Given the description of an element on the screen output the (x, y) to click on. 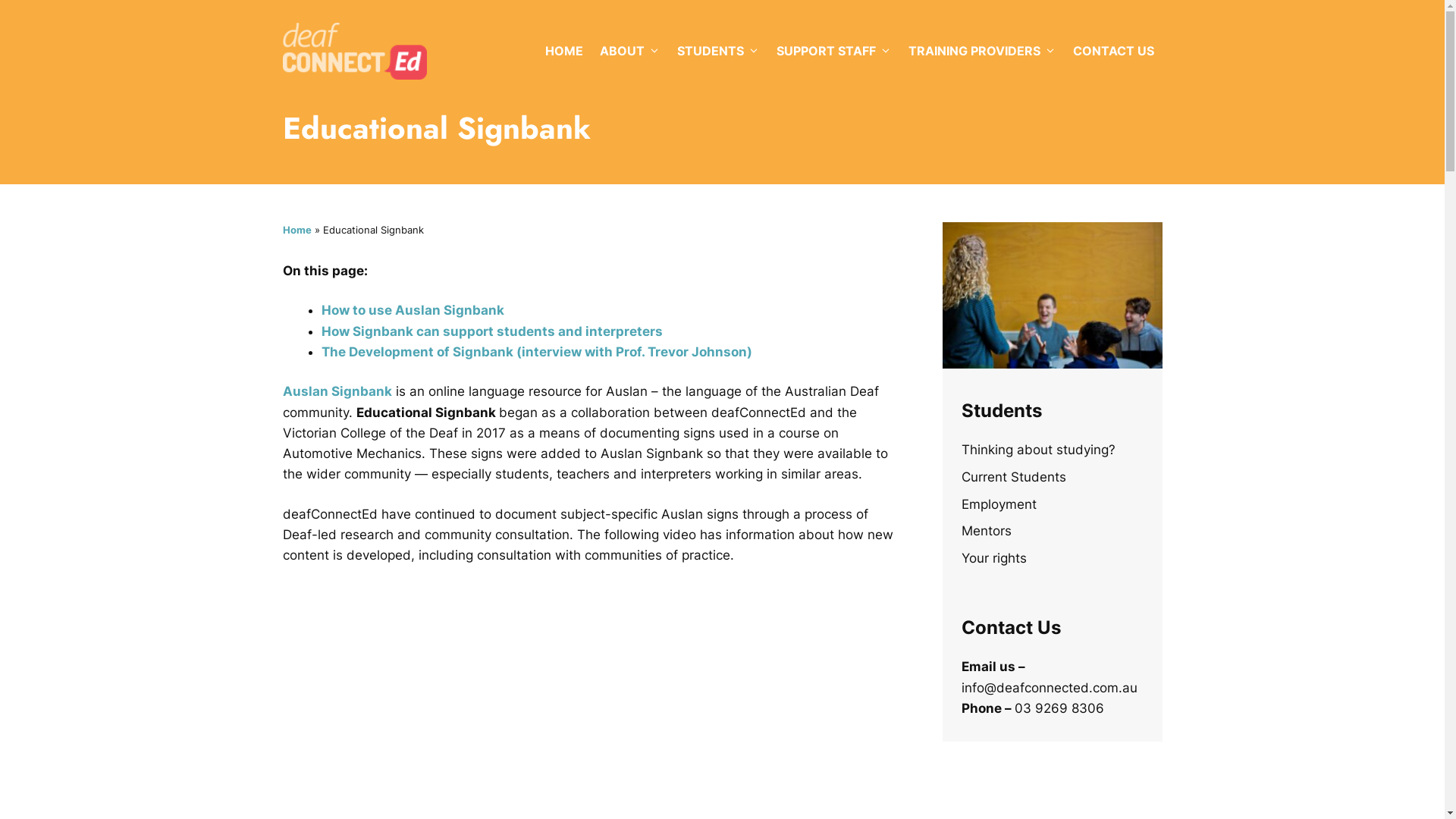
info@deafconnected.com.au Element type: text (1049, 687)
Current Students Element type: text (1013, 476)
Auslan Signbank Element type: text (336, 390)
STUDENTS Element type: text (718, 50)
ABOUT Element type: text (629, 50)
CONTACT US Element type: text (1113, 50)
TRAINING PROVIDERS Element type: text (981, 50)
SUPPORT STAFF Element type: text (833, 50)
Thinking about studying? Element type: text (1038, 449)
Your rights Element type: text (993, 557)
How to use Auslan Signbank Element type: text (412, 309)
Mentors Element type: text (986, 530)
Home Element type: text (296, 229)
Employment Element type: text (998, 503)
03 9269 8306 Element type: text (1059, 707)
How Signbank can support students and interpreters  Element type: text (493, 330)
HOME Element type: text (563, 50)
